Given the description of an element on the screen output the (x, y) to click on. 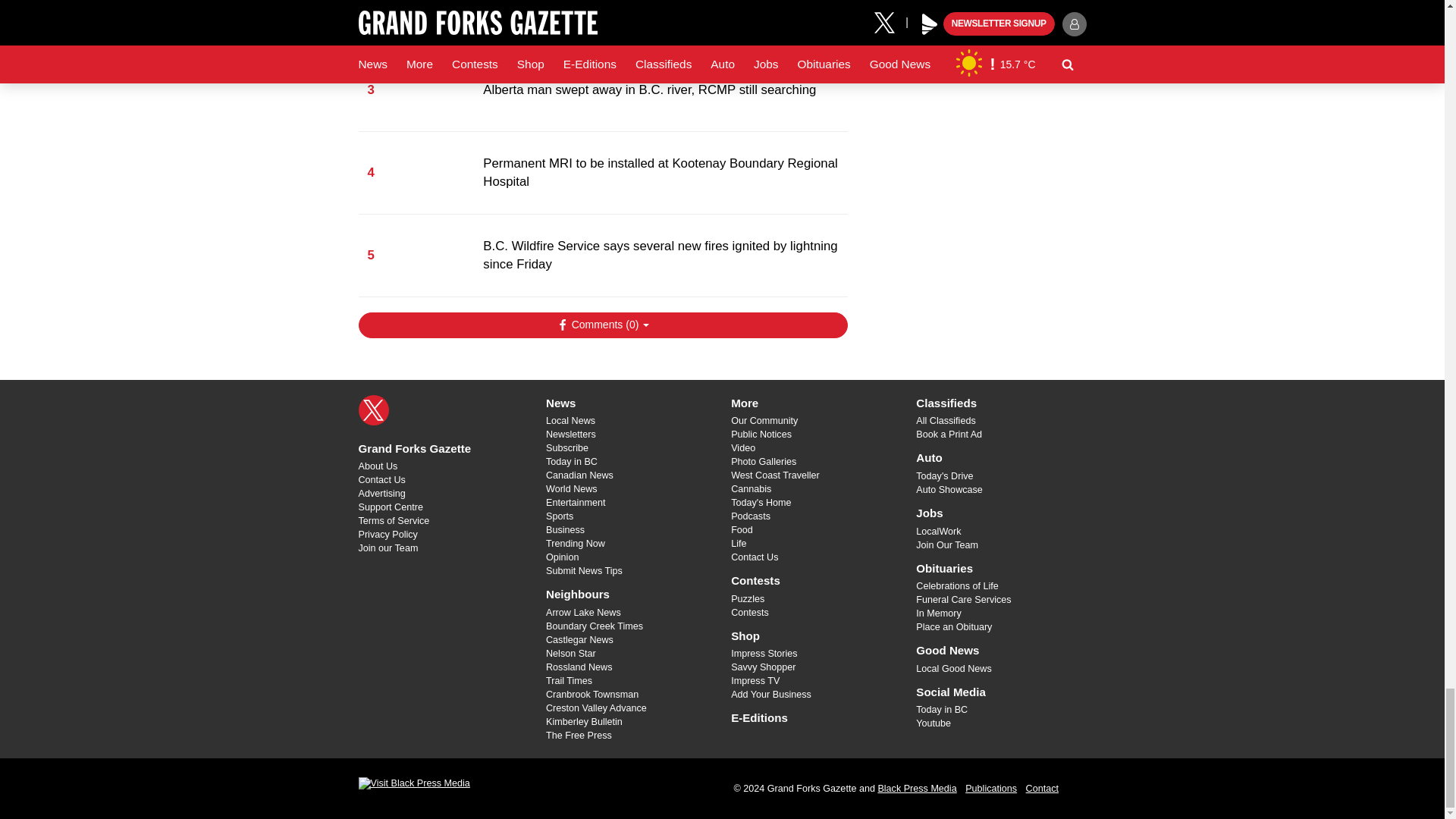
Show Comments (602, 325)
X (373, 409)
